Given the description of an element on the screen output the (x, y) to click on. 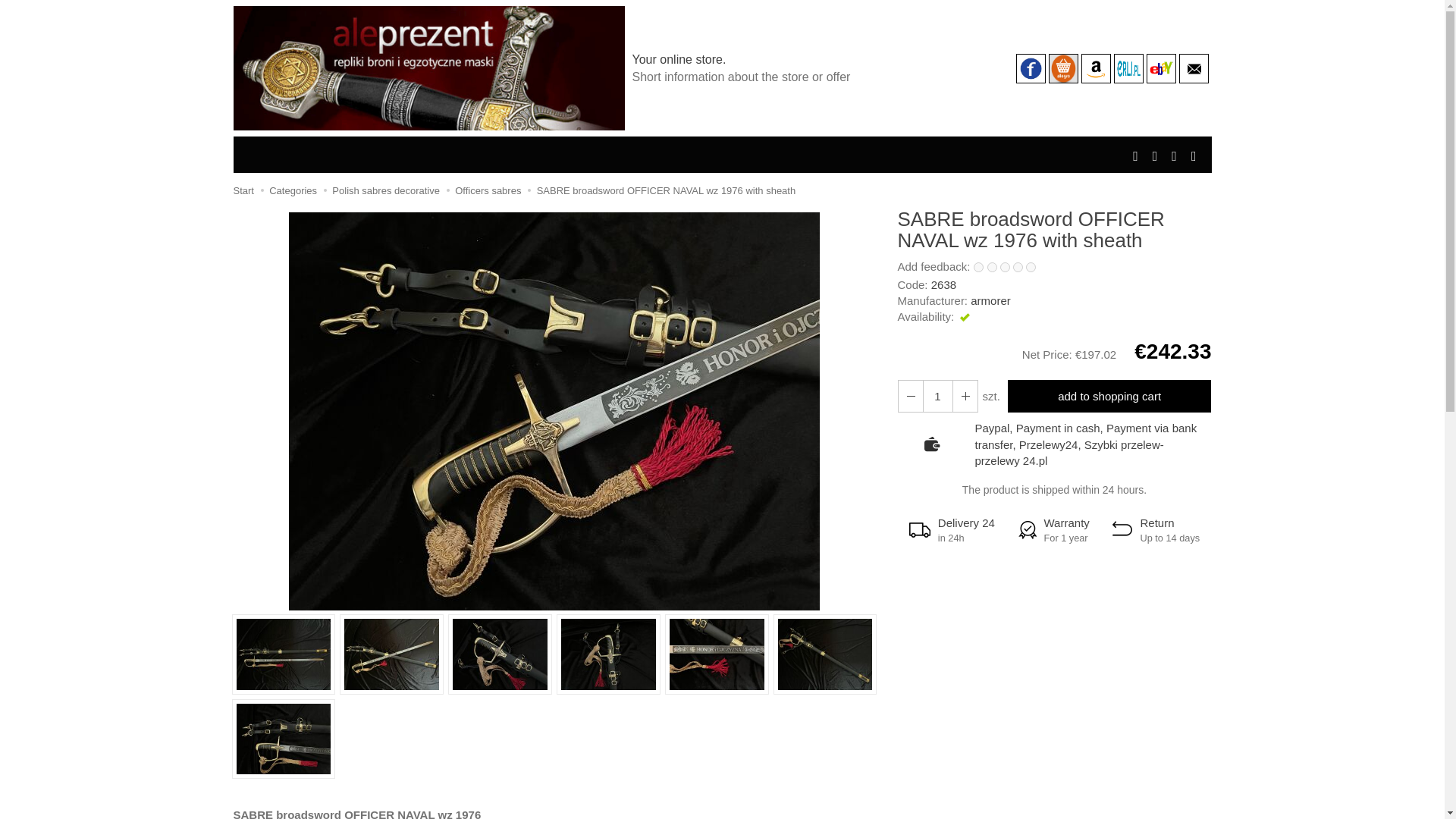
2 (992, 266)
4 (1018, 266)
1 (936, 396)
3 (1005, 266)
5 (1030, 266)
1 (979, 266)
